Given the description of an element on the screen output the (x, y) to click on. 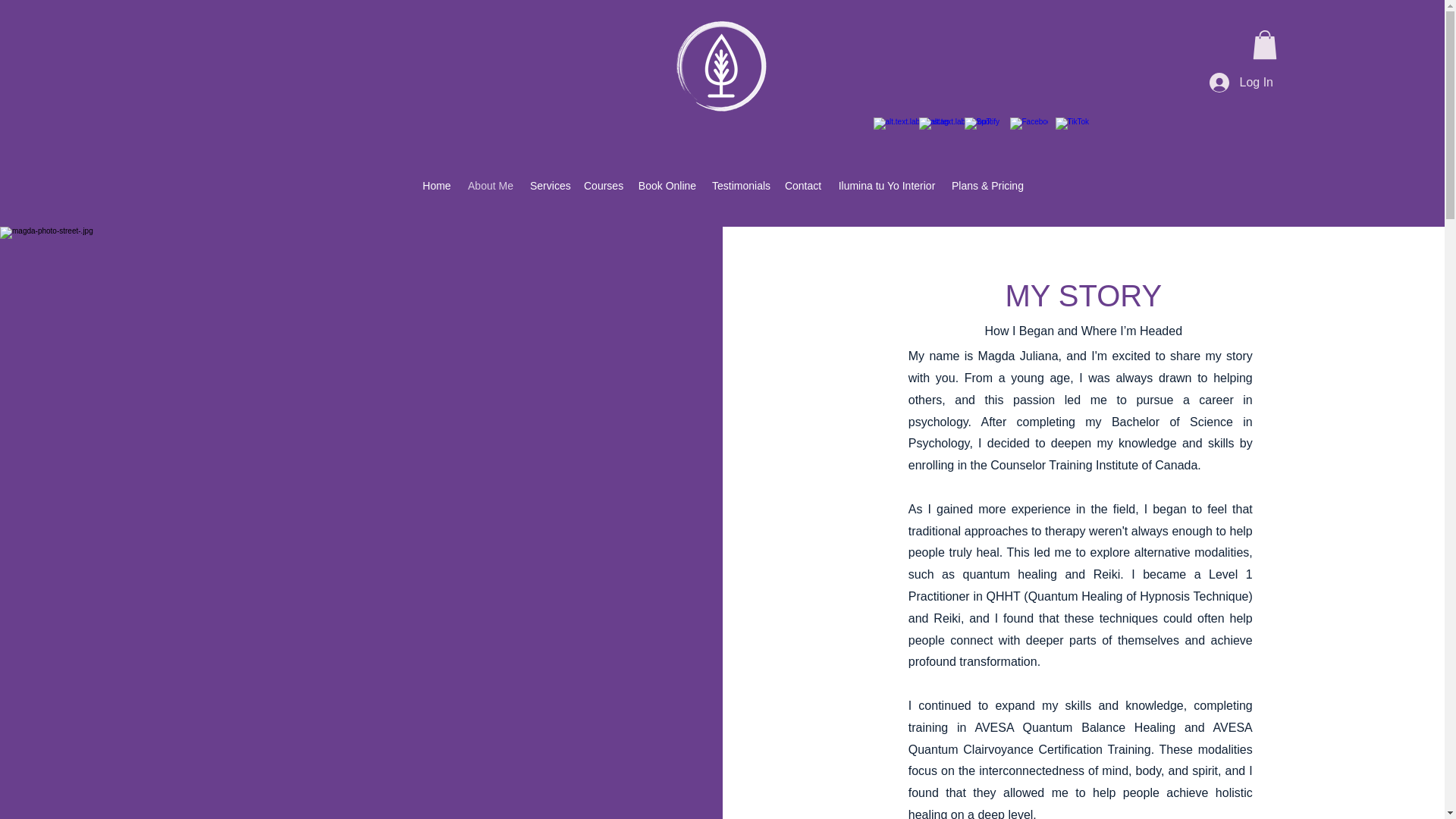
Home (436, 185)
About Me (490, 185)
Book Online (667, 185)
Contact (802, 185)
Services (549, 185)
Log In (1241, 82)
Ilumina tu Yo Interior (886, 185)
Courses (603, 185)
Testimonials (740, 185)
